Given the description of an element on the screen output the (x, y) to click on. 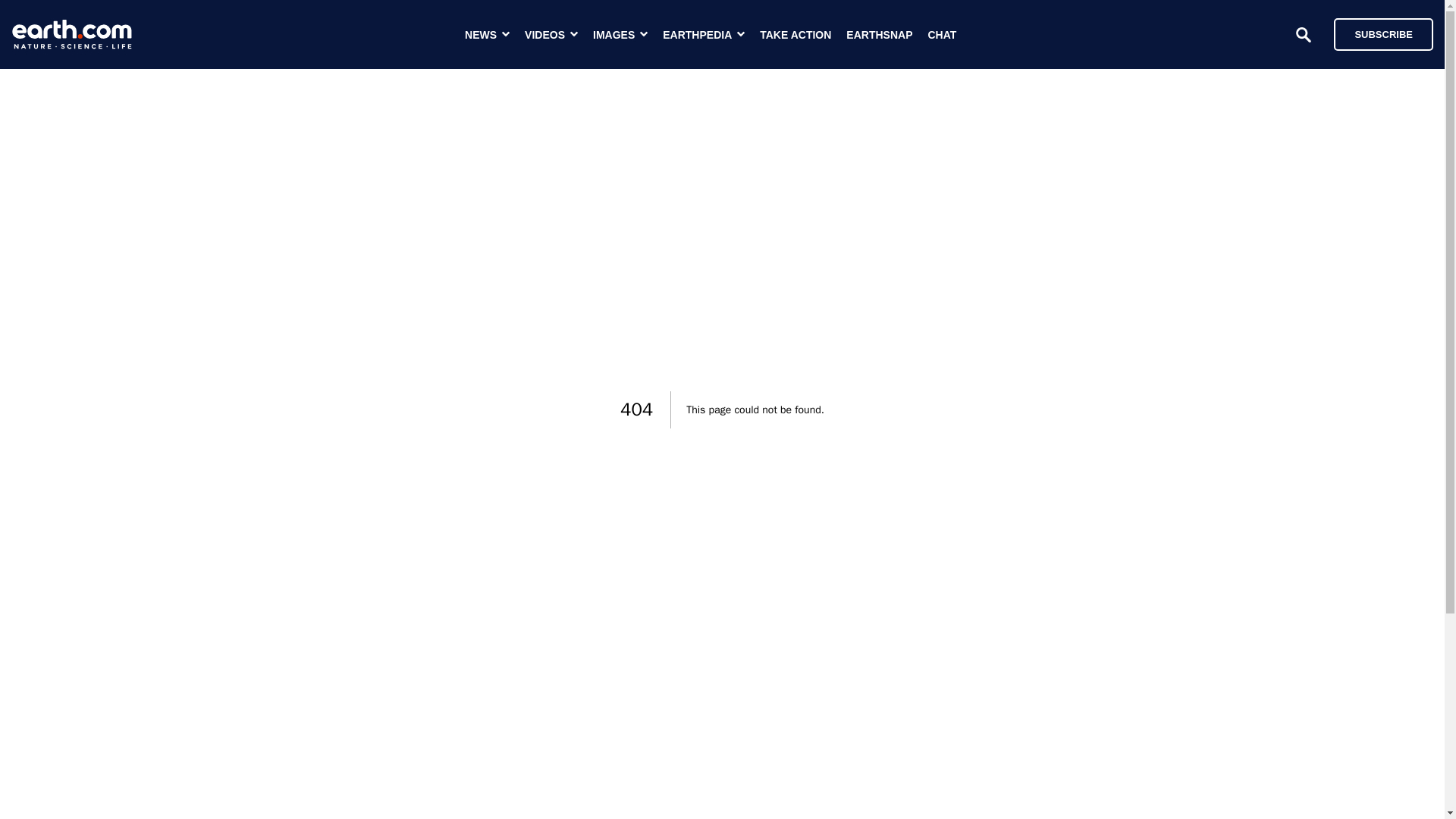
TAKE ACTION (795, 34)
EARTHSNAP (878, 34)
CHAT (941, 34)
SUBSCRIBE (1382, 34)
SUBSCRIBE (1375, 33)
